Given the description of an element on the screen output the (x, y) to click on. 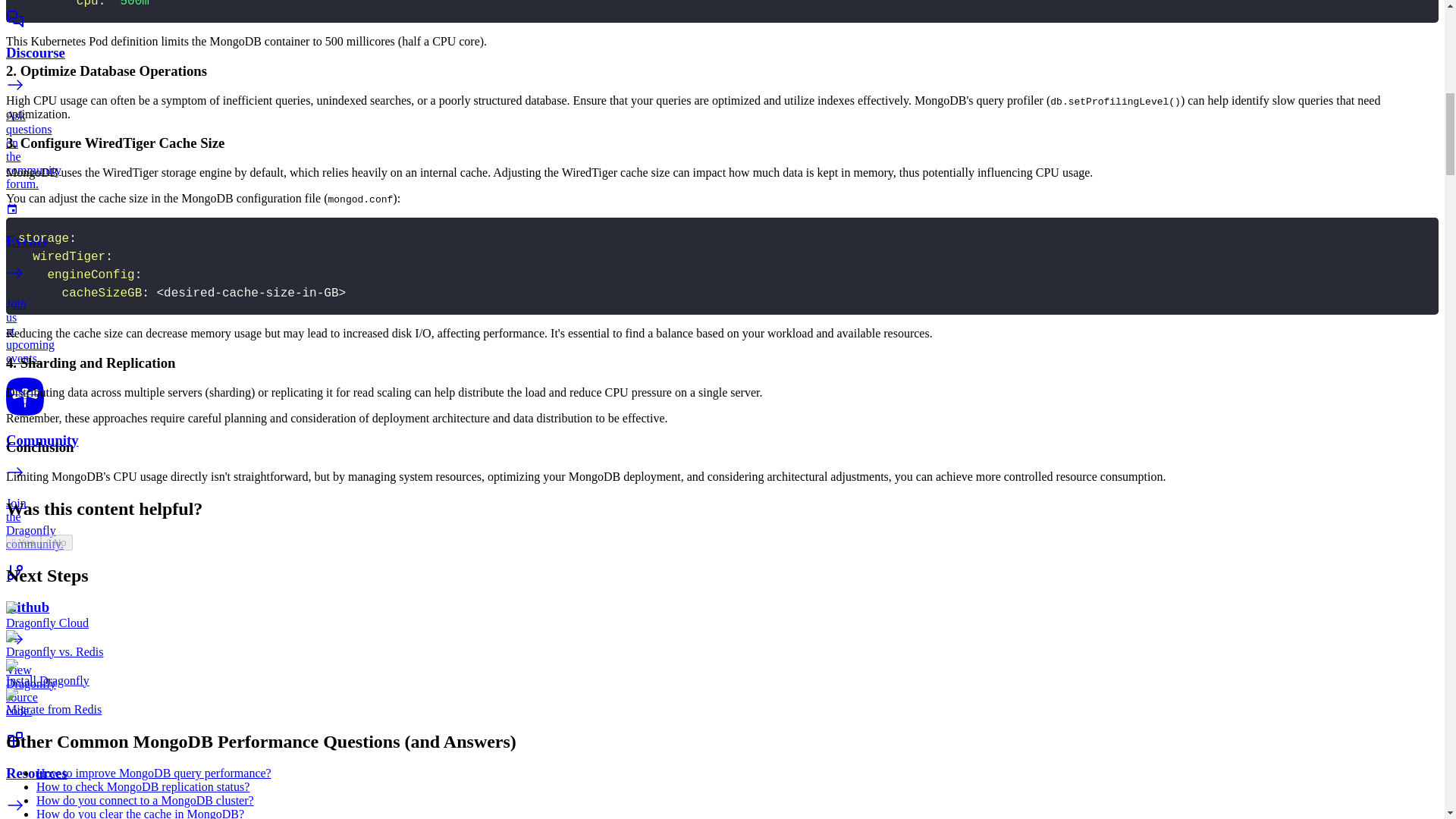
Install Dragonfly (46, 680)
How to improve MongoDB query performance? (153, 772)
Migrate from Redis (53, 708)
Dragonfly Cloud (46, 622)
How to check MongoDB replication status? (142, 786)
How do you clear the cache in MongoDB? (140, 813)
How do you connect to a MongoDB cluster? (144, 799)
Dragonfly vs. Redis (54, 651)
